Given the description of an element on the screen output the (x, y) to click on. 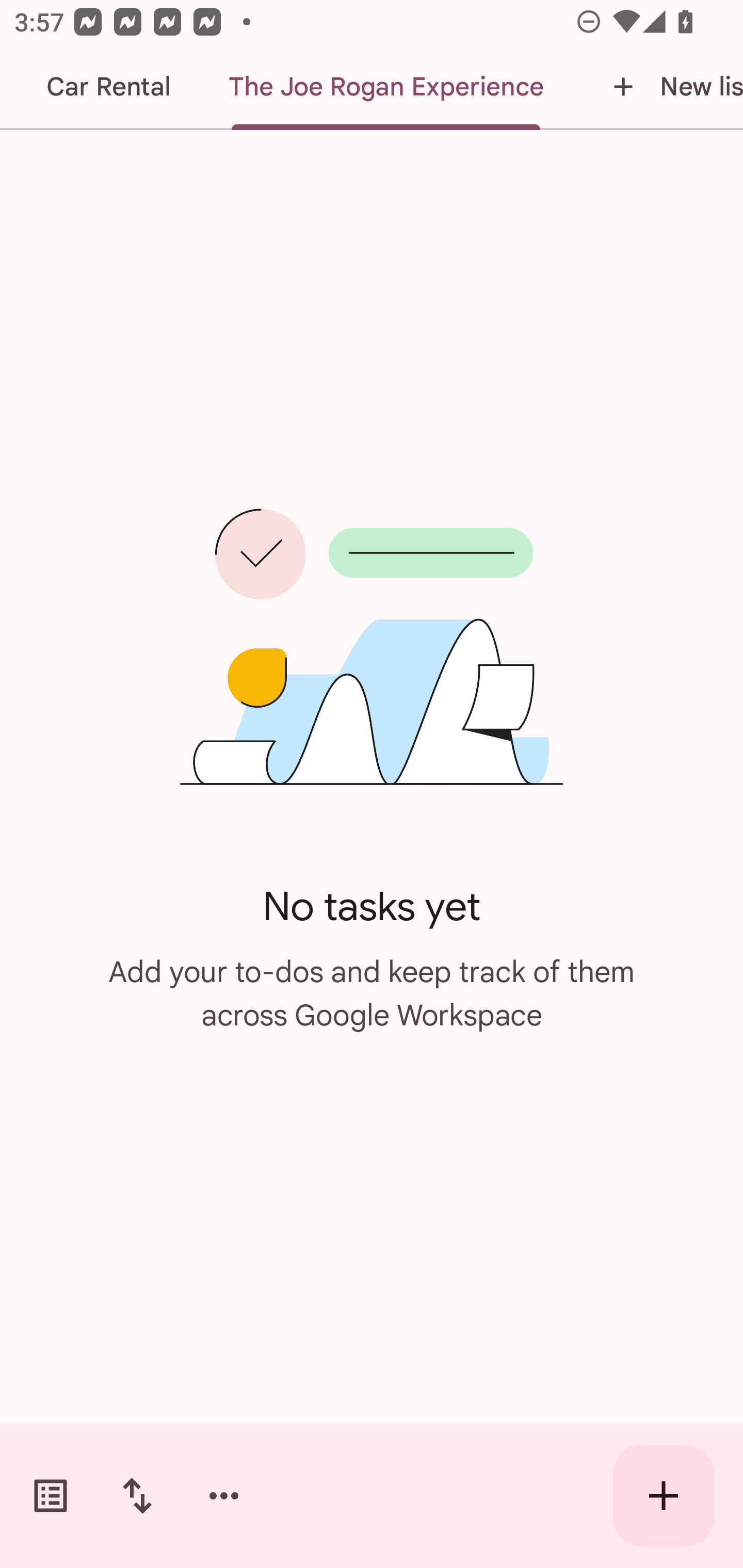
Car Rental (108, 86)
New list (657, 86)
Switch task lists (50, 1495)
Create new task (663, 1495)
Change sort order (136, 1495)
More options (223, 1495)
